Given the description of an element on the screen output the (x, y) to click on. 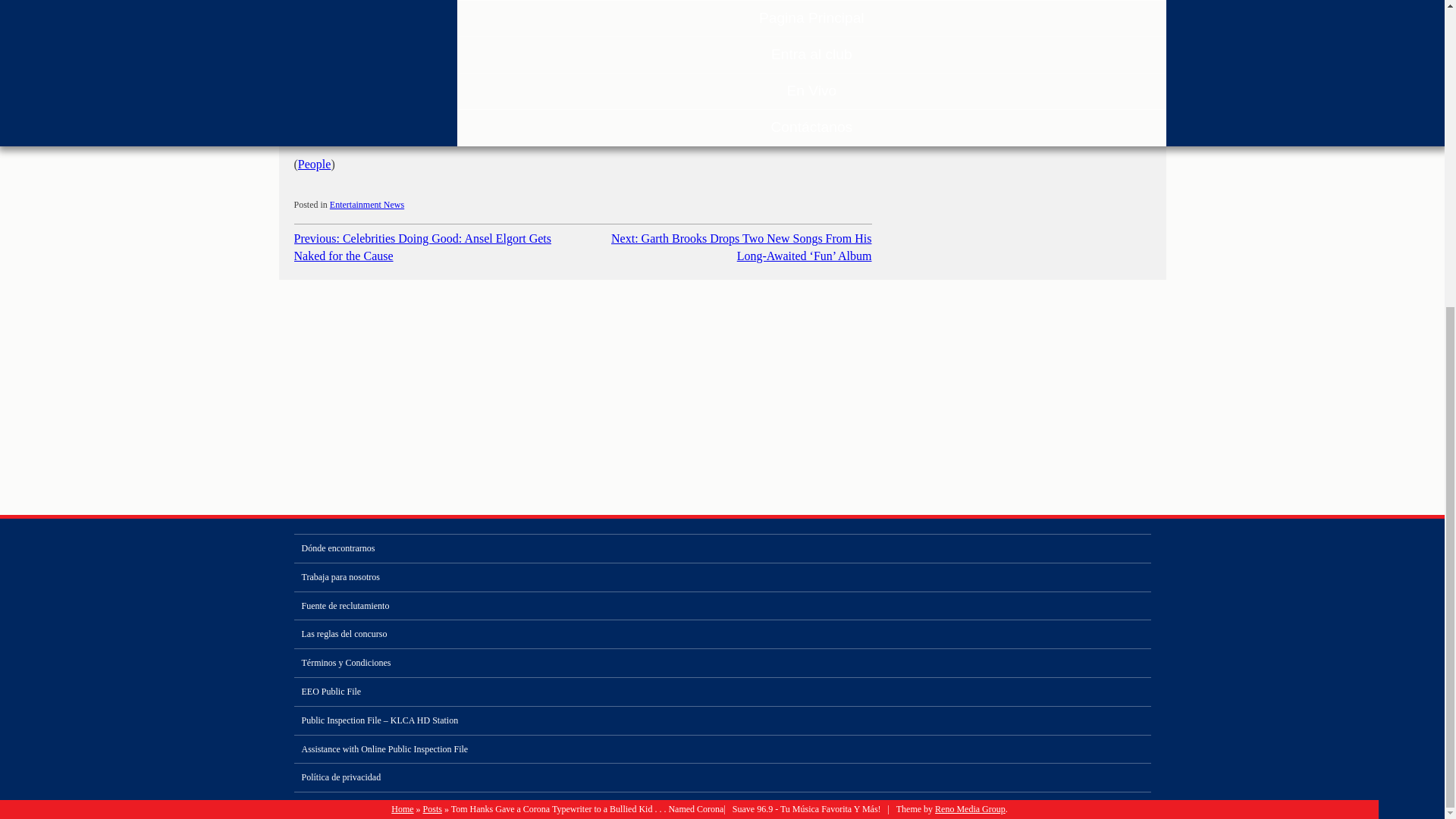
April 23, 2020 (492, 92)
Entertainment News (367, 204)
Home (402, 808)
EEO Public File (722, 691)
People (314, 164)
Trabaja para nosotros (722, 577)
Posts (432, 808)
Fuente de reclutamiento (722, 605)
Reno Media Group (970, 808)
Assistance with Online Public Inspection File (722, 749)
